Given the description of an element on the screen output the (x, y) to click on. 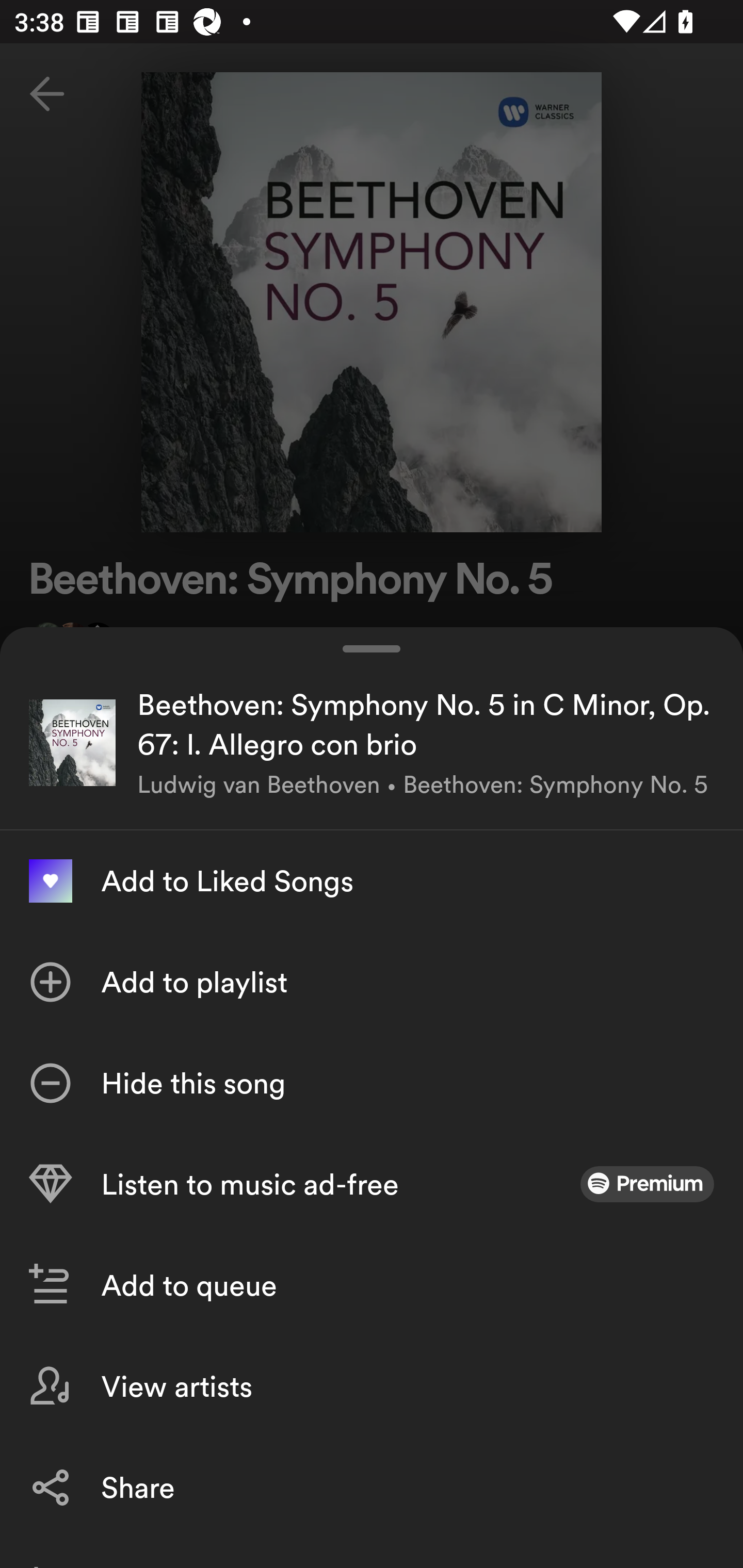
Add to Liked Songs (371, 881)
Add to playlist (371, 982)
Hide this song (371, 1083)
Listen to music ad-free (371, 1184)
Add to queue (371, 1285)
View artists (371, 1385)
Share (371, 1487)
